Given the description of an element on the screen output the (x, y) to click on. 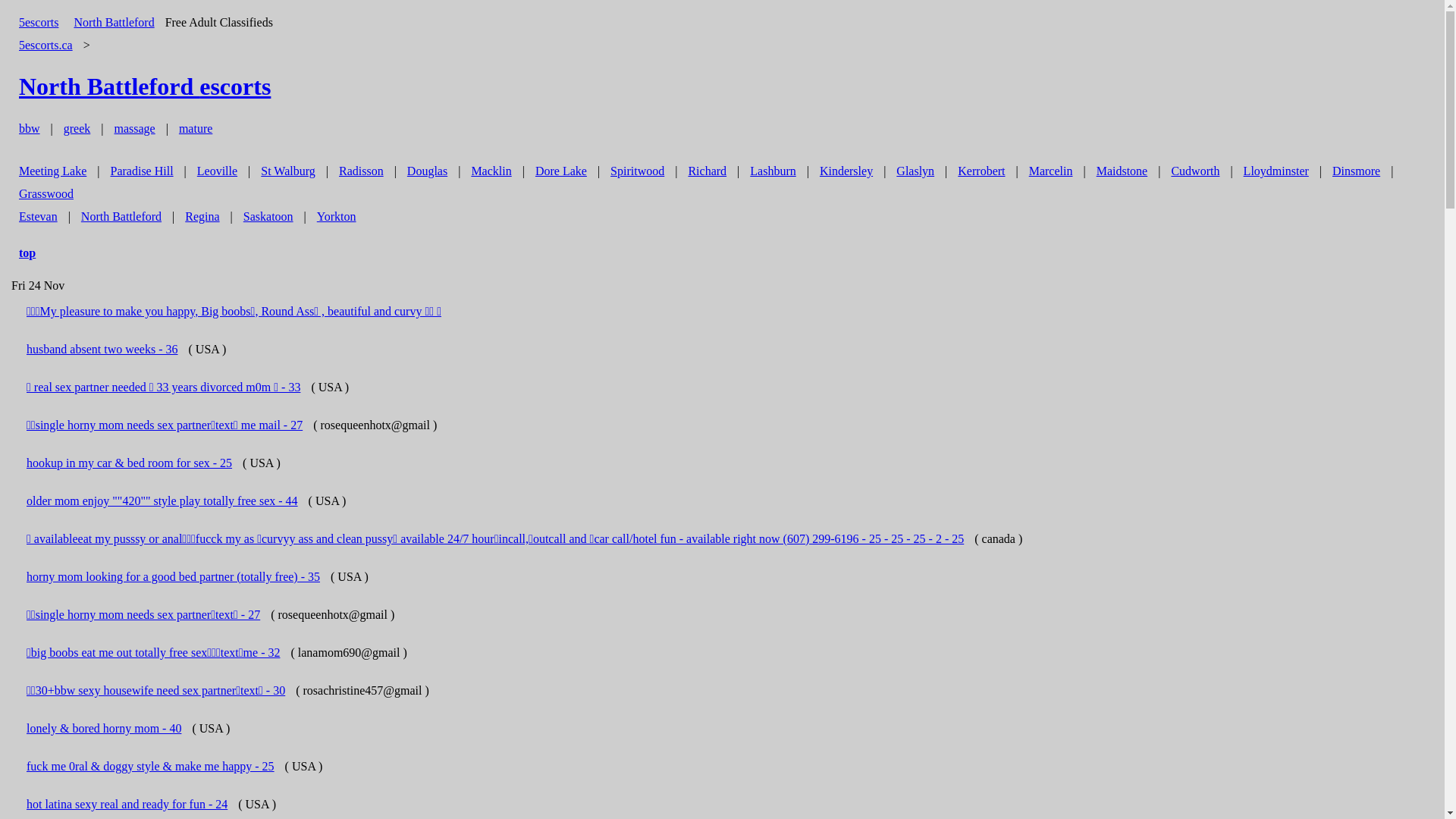
Richard Element type: text (707, 170)
Yorkton Element type: text (336, 216)
Dinsmore Element type: text (1355, 170)
Glaslyn Element type: text (914, 170)
greek Element type: text (77, 128)
Lloydminster Element type: text (1276, 170)
Spiritwood Element type: text (636, 170)
Maidstone Element type: text (1121, 170)
Meeting Lake Element type: text (52, 170)
massage Element type: text (134, 128)
Dore Lake Element type: text (560, 170)
Grasswood Element type: text (46, 193)
Douglas Element type: text (427, 170)
North Battleford Element type: text (121, 216)
Kindersley Element type: text (846, 170)
fuck me 0ral & doggy style & make me happy - 25 Element type: text (150, 766)
Radisson Element type: text (361, 170)
husband absent two weeks - 36 Element type: text (101, 349)
horny mom looking for a good bed partner (totally free) - 35 Element type: text (172, 576)
bbw Element type: text (29, 128)
Cudworth Element type: text (1194, 170)
Kerrobert Element type: text (981, 170)
St Walburg Element type: text (287, 170)
North Battleford escorts Element type: text (144, 86)
mature Element type: text (195, 128)
North Battleford Element type: text (113, 22)
Paradise Hill Element type: text (142, 170)
hot latina sexy real and ready for fun - 24 Element type: text (126, 804)
Marcelin Element type: text (1050, 170)
Lashburn Element type: text (772, 170)
top Element type: text (27, 252)
Estevan Element type: text (38, 216)
hookup in my car & bed room for sex - 25 Element type: text (128, 462)
Regina Element type: text (201, 216)
Saskatoon Element type: text (268, 216)
5escorts Element type: text (38, 22)
older mom enjoy ""420"" style play totally free sex - 44 Element type: text (161, 500)
Leoville Element type: text (216, 170)
lonely & bored horny mom - 40 Element type: text (103, 728)
Macklin Element type: text (490, 170)
5escorts.ca Element type: text (45, 45)
